Given the description of an element on the screen output the (x, y) to click on. 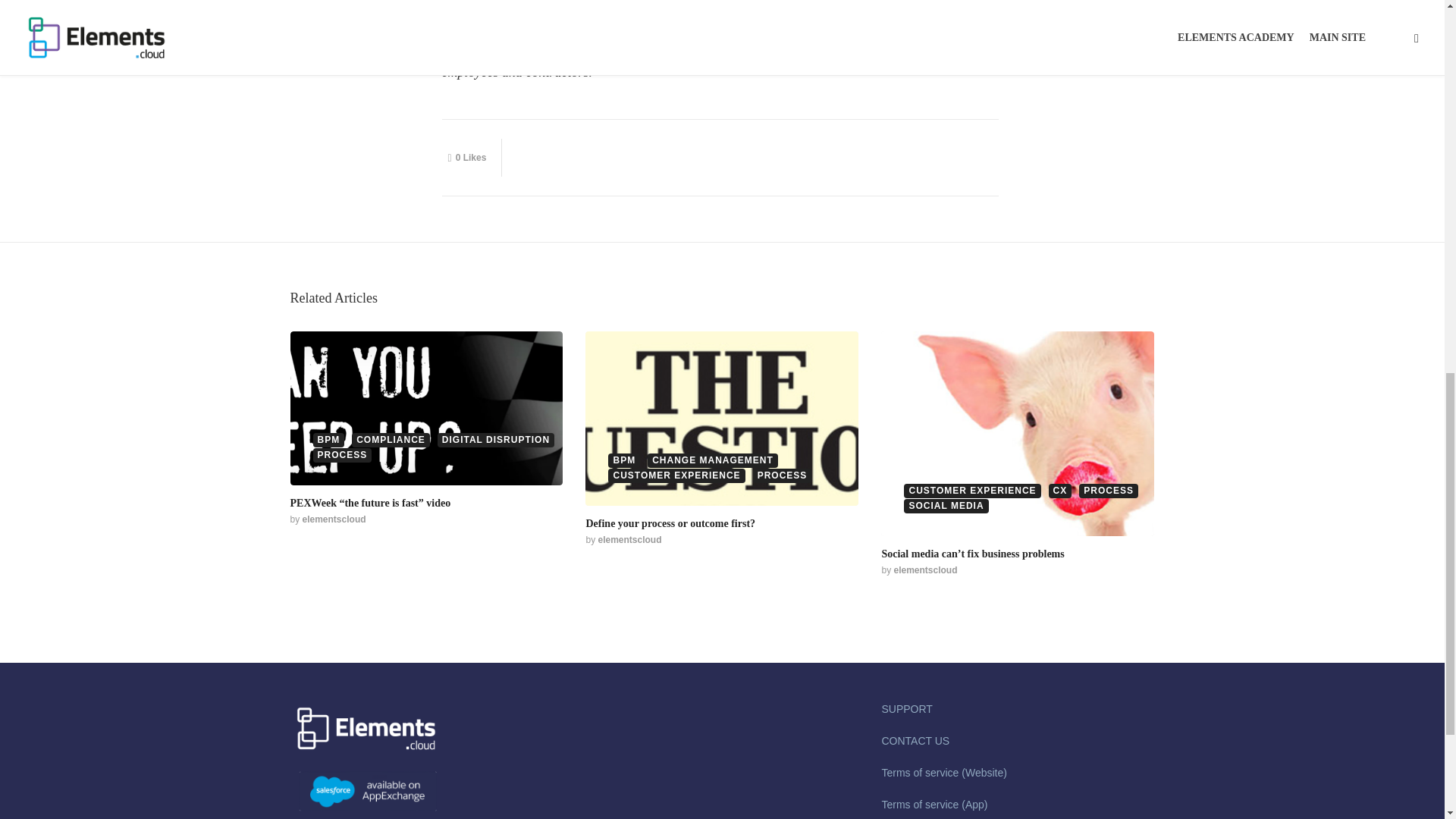
CX (1059, 490)
PROCESS (1108, 490)
DIGITAL DISRUPTION (496, 440)
PROCESS (782, 475)
elementscloud (334, 519)
CUSTOMER EXPERIENCE (972, 490)
0 Likes (466, 157)
COMPLIANCE (390, 440)
BPM (624, 460)
SOCIAL MEDIA (946, 505)
CHANGE MANAGEMENT (712, 460)
BPM (328, 440)
CUSTOMER EXPERIENCE (676, 475)
PROCESS (342, 454)
Define your process or outcome first? (670, 523)
